Given the description of an element on the screen output the (x, y) to click on. 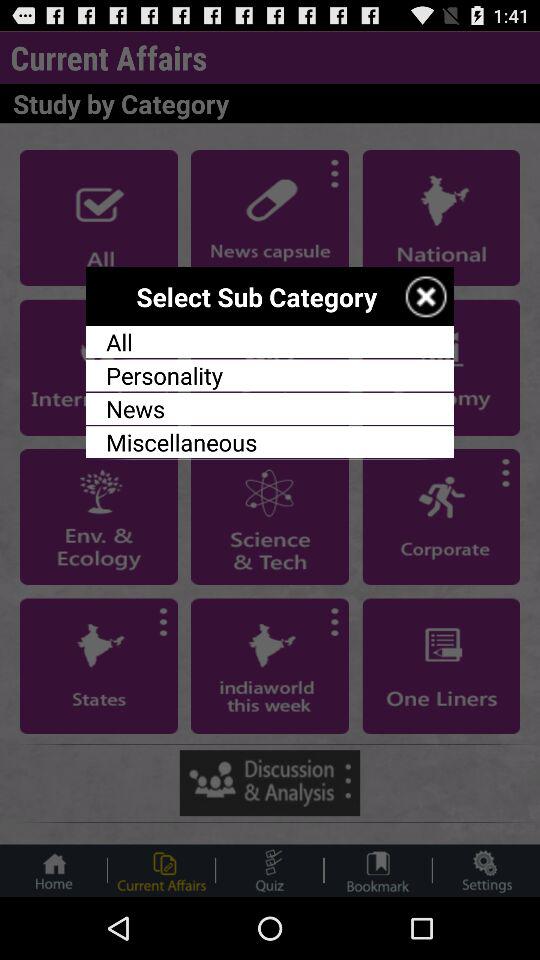
open item below personality app (269, 408)
